Given the description of an element on the screen output the (x, y) to click on. 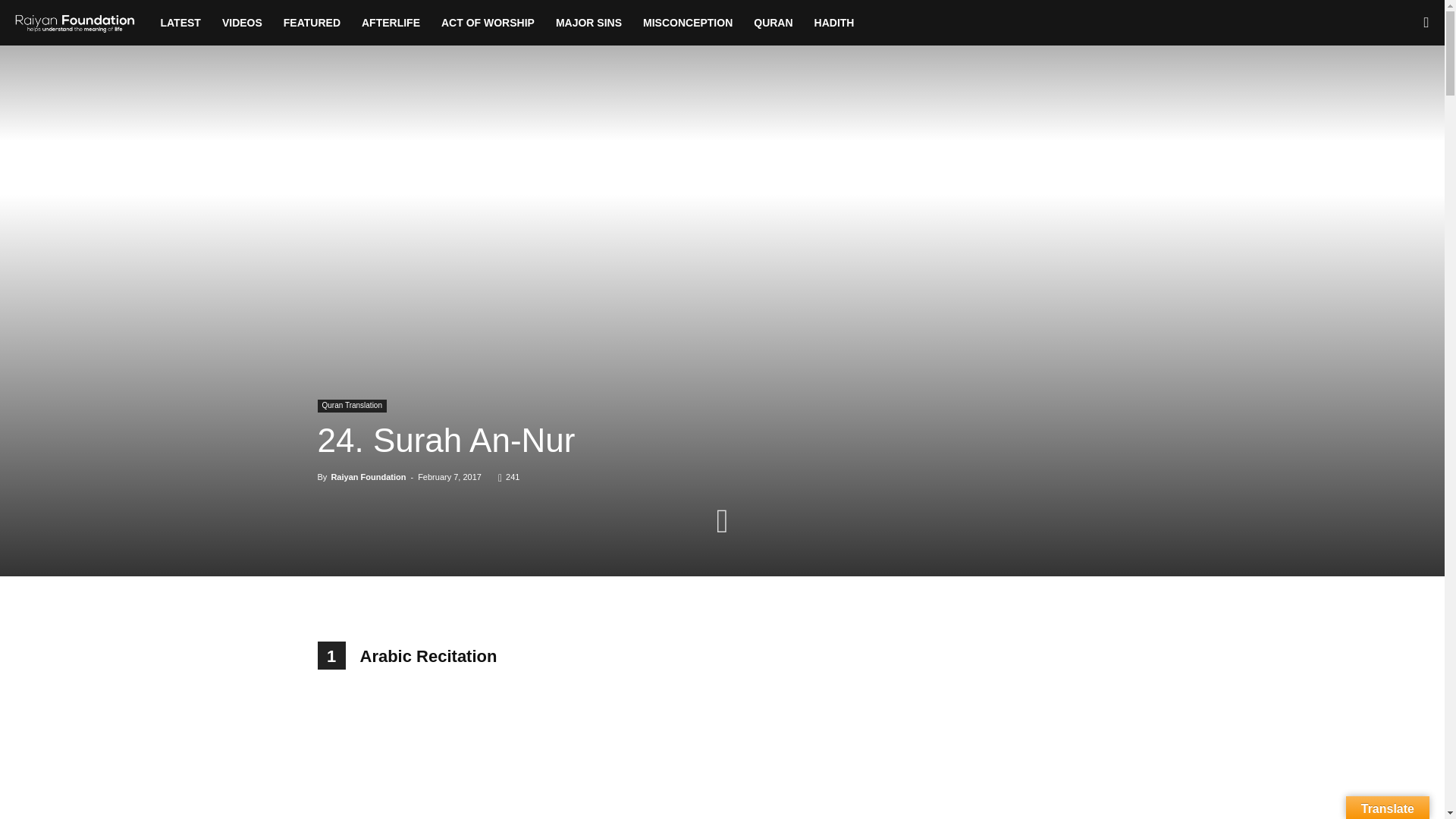
Raiyan Foundation (74, 22)
FEATURED (311, 22)
LATEST (180, 22)
VIDEOS (242, 22)
Raiyan Foundation (81, 22)
